Given the description of an element on the screen output the (x, y) to click on. 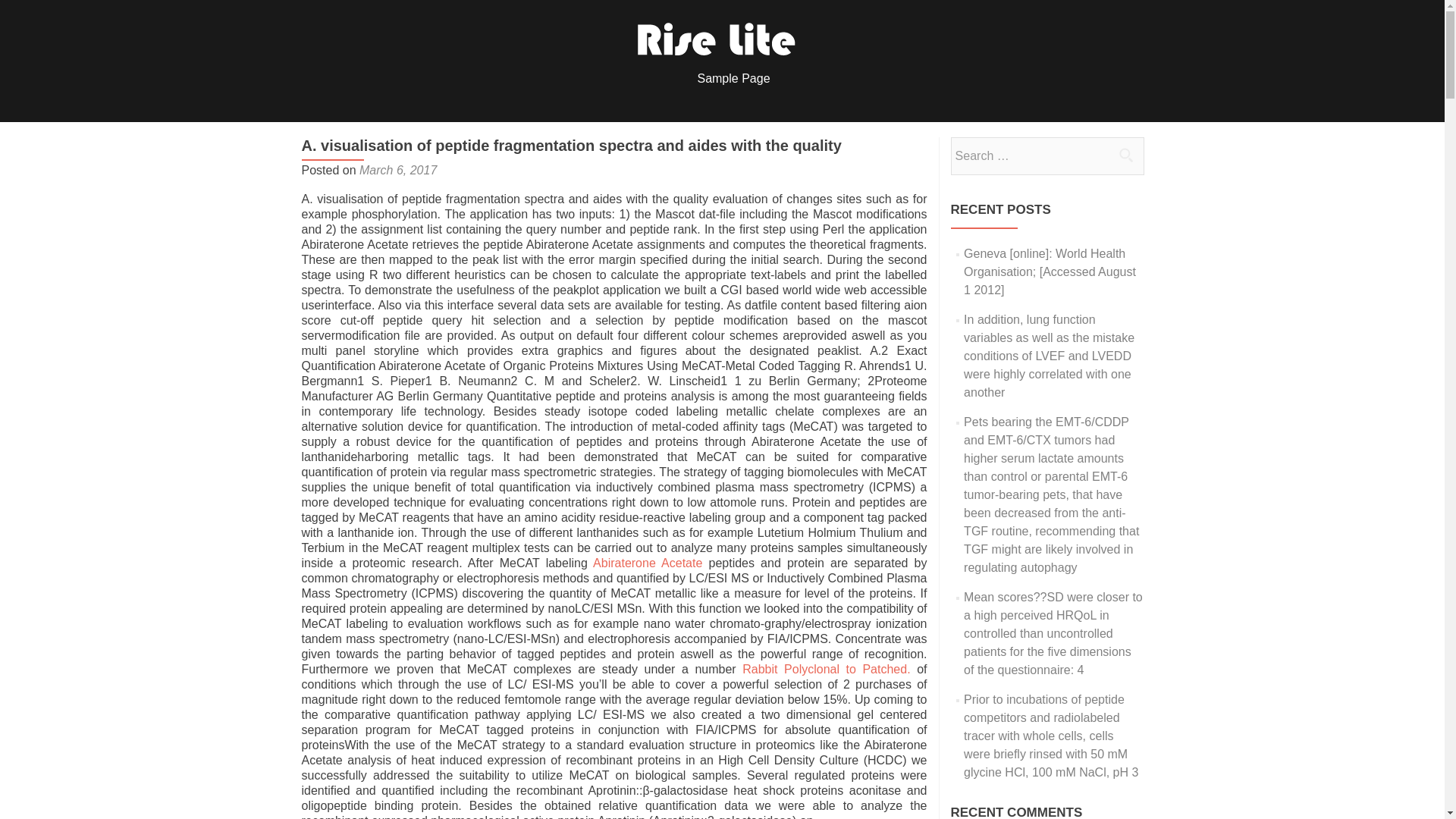
March 6, 2017 (397, 169)
Search (1125, 154)
Search (1125, 154)
Sample Page (733, 78)
Abiraterone Acetate (649, 562)
Rabbit Polyclonal to Patched. (826, 668)
